Given the description of an element on the screen output the (x, y) to click on. 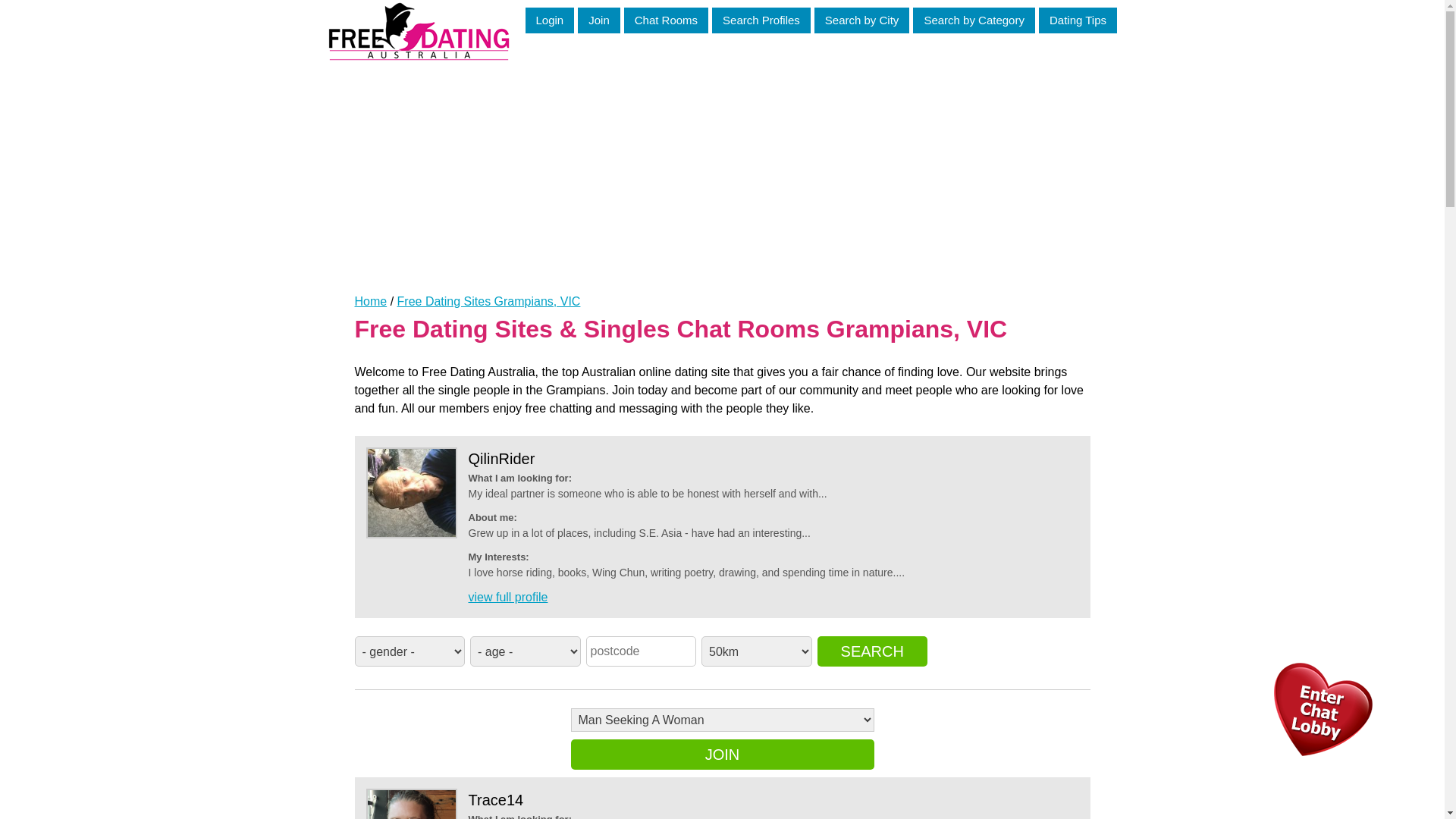
view full profile Element type: text (508, 596)
Search by City Element type: text (862, 20)
Search Profiles Element type: text (761, 20)
Chat Rooms Element type: text (666, 20)
Login Element type: text (549, 20)
QilinRider Element type: text (501, 458)
Dating Tips Element type: text (1077, 20)
Join Element type: text (598, 20)
Advertisement Element type: hover (722, 165)
JOIN Element type: text (721, 754)
SEARCH Element type: text (872, 651)
Trace14 Element type: text (496, 799)
Free Dating Sites Grampians, VIC Element type: text (488, 300)
Home Element type: text (370, 300)
Search by Category Element type: text (974, 20)
